Given the description of an element on the screen output the (x, y) to click on. 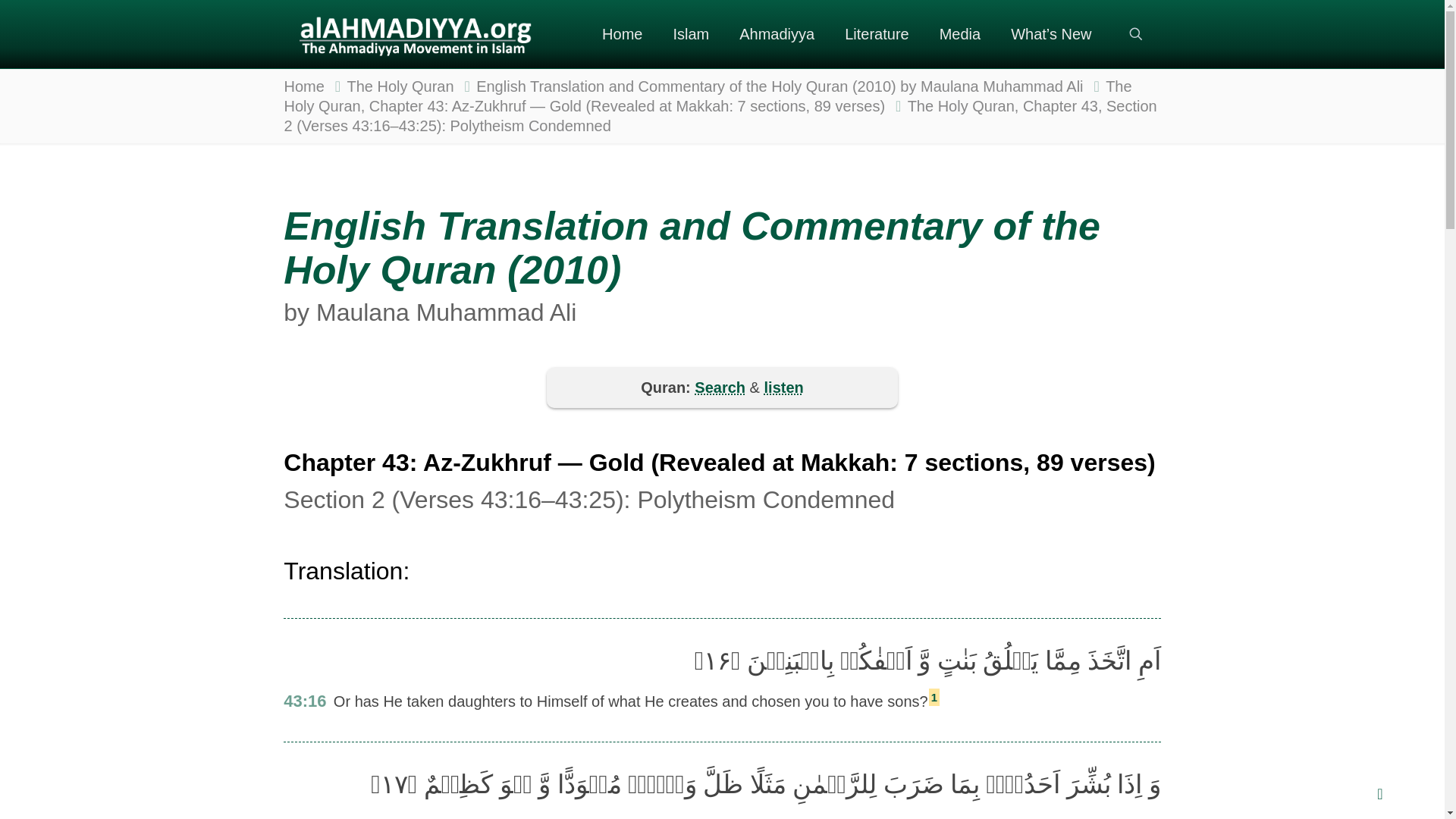
The Ahmadiyya Movement in Islam (776, 33)
Literature (876, 33)
Ahmadiyya (776, 33)
alahmadiyya.org (414, 33)
Home (622, 33)
Islam (690, 33)
